Given the description of an element on the screen output the (x, y) to click on. 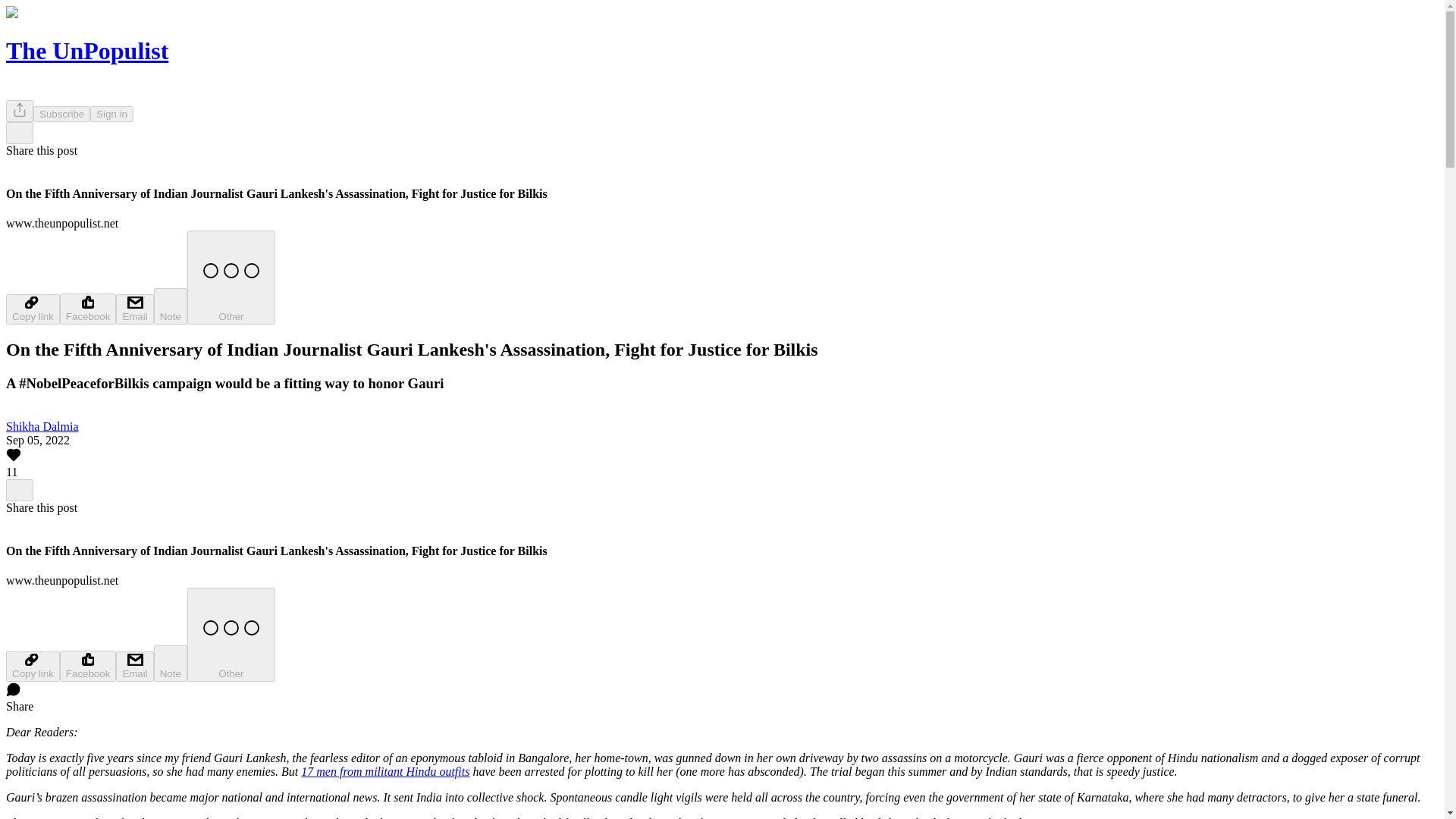
Shikha Dalmia (41, 426)
Sign in (111, 114)
Email (134, 309)
17 men from militant Hindu outfits (384, 771)
Note (170, 663)
Email (134, 666)
Note (170, 306)
The UnPopulist (86, 50)
Other (231, 634)
Copy link (32, 309)
Other (231, 277)
Subscribe (61, 114)
Facebook (87, 308)
Copy link (32, 666)
Facebook (87, 665)
